Given the description of an element on the screen output the (x, y) to click on. 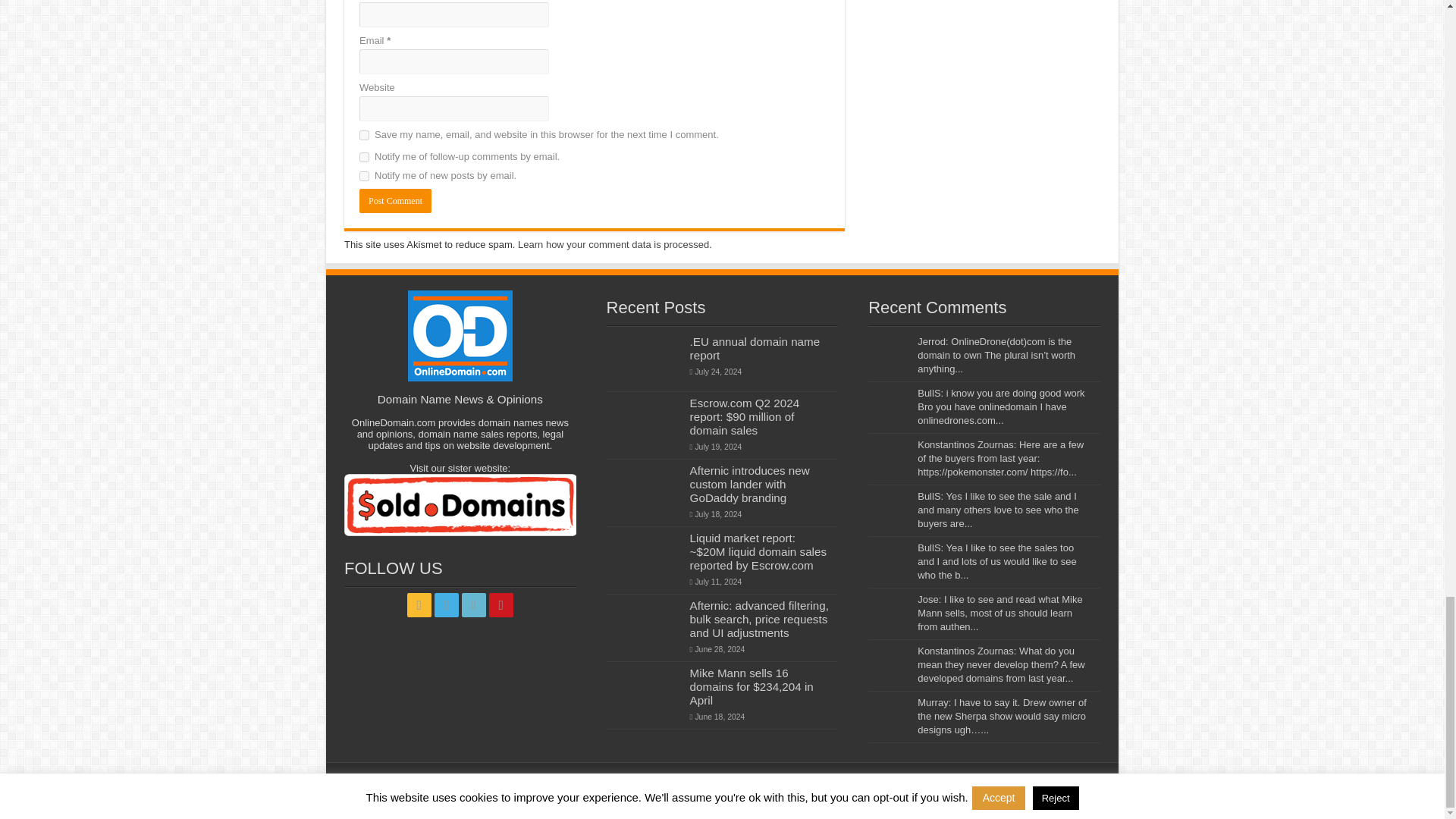
yes (364, 135)
subscribe (364, 157)
subscribe (364, 175)
Post Comment (394, 200)
